Given the description of an element on the screen output the (x, y) to click on. 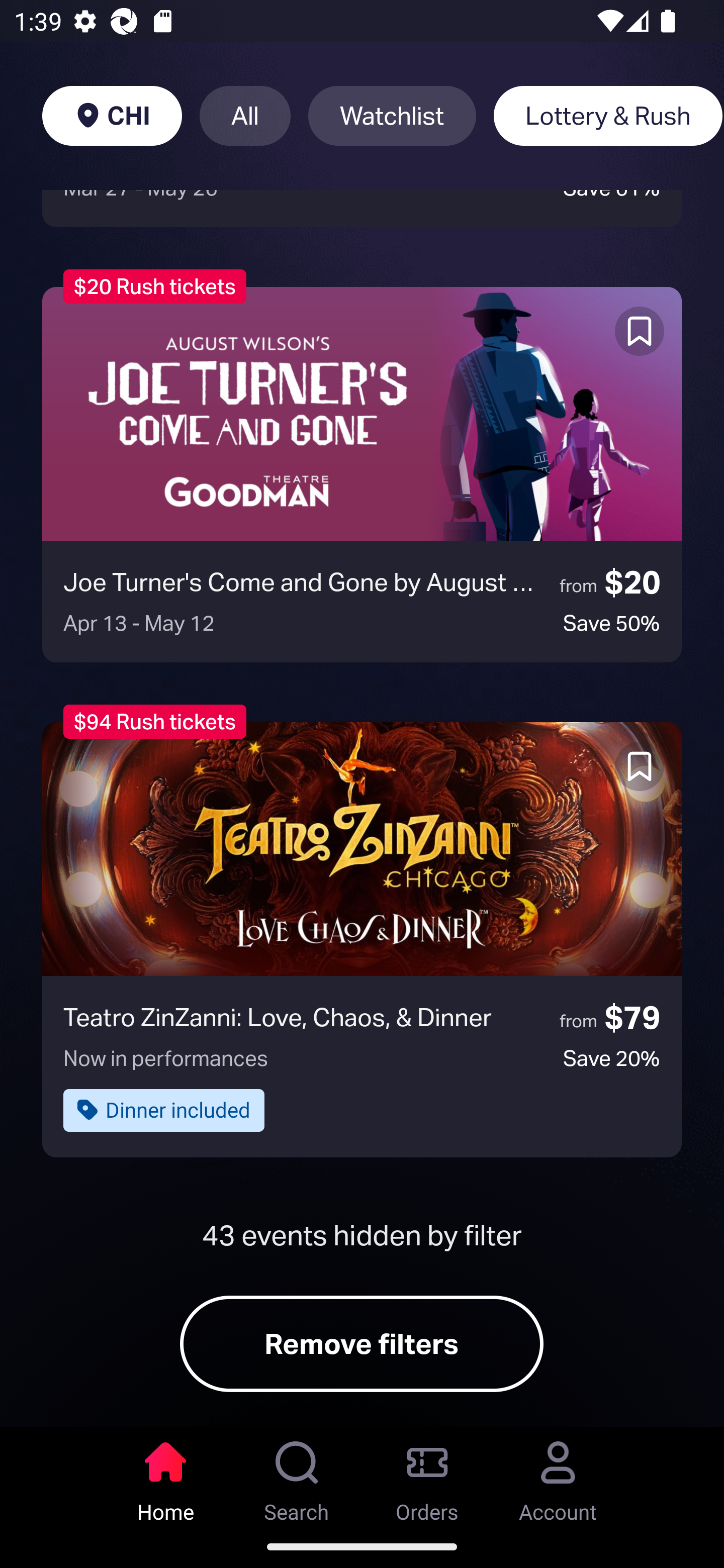
CHI (111, 115)
All (244, 115)
Watchlist (392, 115)
Lottery & Rush (607, 115)
Remove filters (361, 1343)
Search (296, 1475)
Orders (427, 1475)
Account (558, 1475)
